Given the description of an element on the screen output the (x, y) to click on. 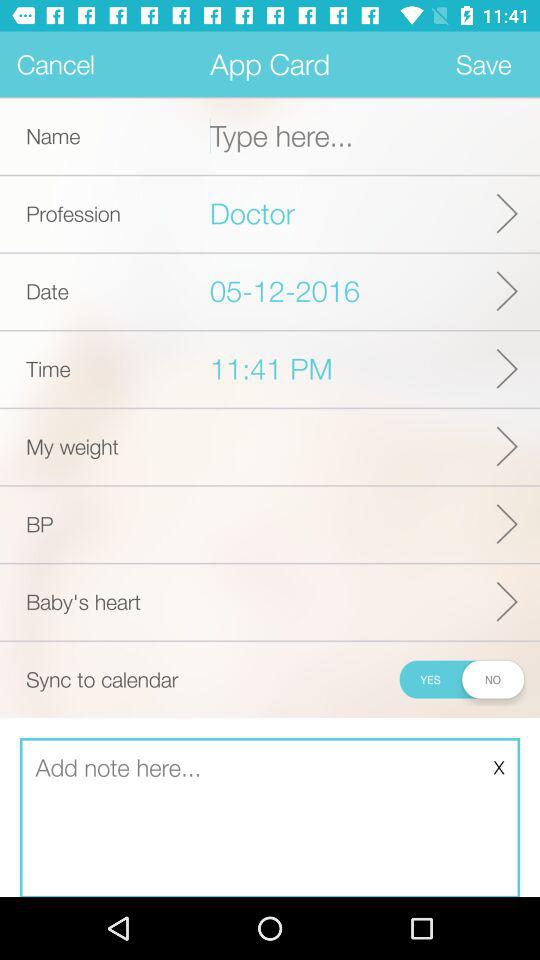
choose icon next to sync to calendar (460, 679)
